Given the description of an element on the screen output the (x, y) to click on. 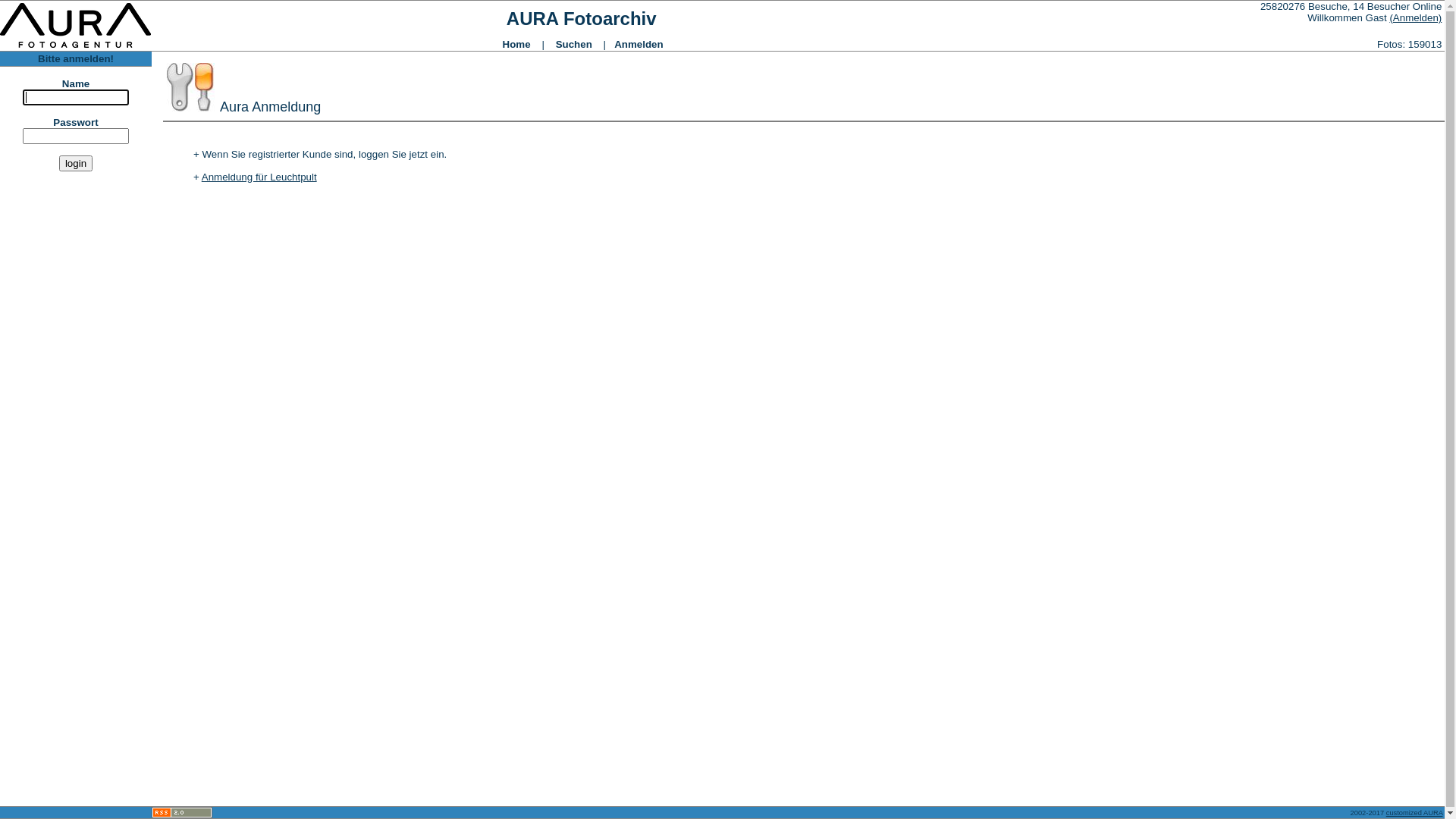
Suchen Element type: text (573, 44)
Anmelden Element type: text (638, 44)
(Anmelden) Element type: text (1415, 17)
Home Element type: text (516, 44)
customized AURA Element type: text (1414, 811)
login Element type: text (75, 163)
